Given the description of an element on the screen output the (x, y) to click on. 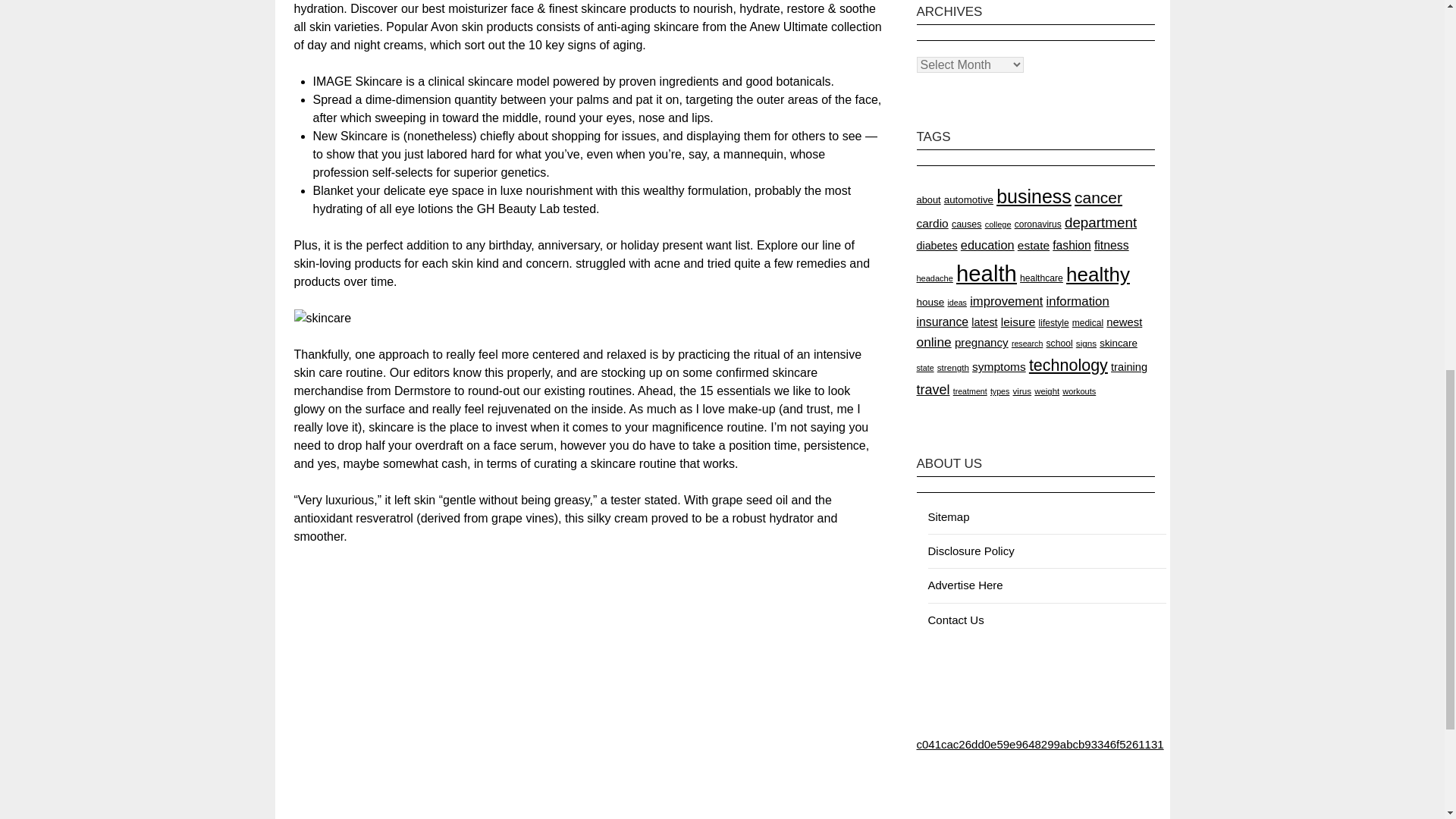
about (927, 199)
healthcare (1041, 277)
department (1100, 222)
health (986, 273)
estate (1033, 245)
causes (966, 224)
fashion (1071, 245)
improvement (1005, 301)
headache (933, 277)
cancer (1098, 197)
